Given the description of an element on the screen output the (x, y) to click on. 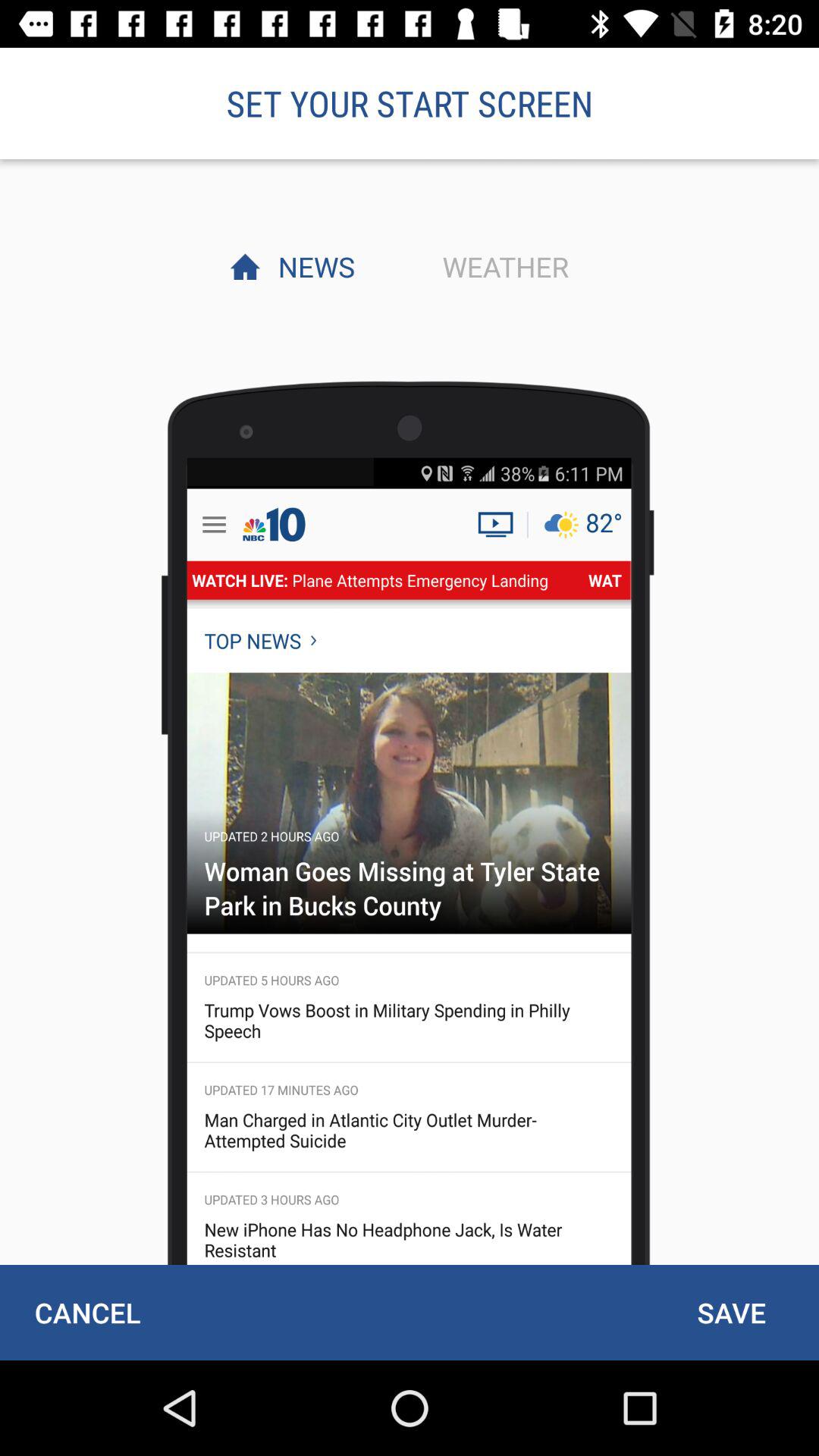
click the item next to weather item (312, 266)
